Given the description of an element on the screen output the (x, y) to click on. 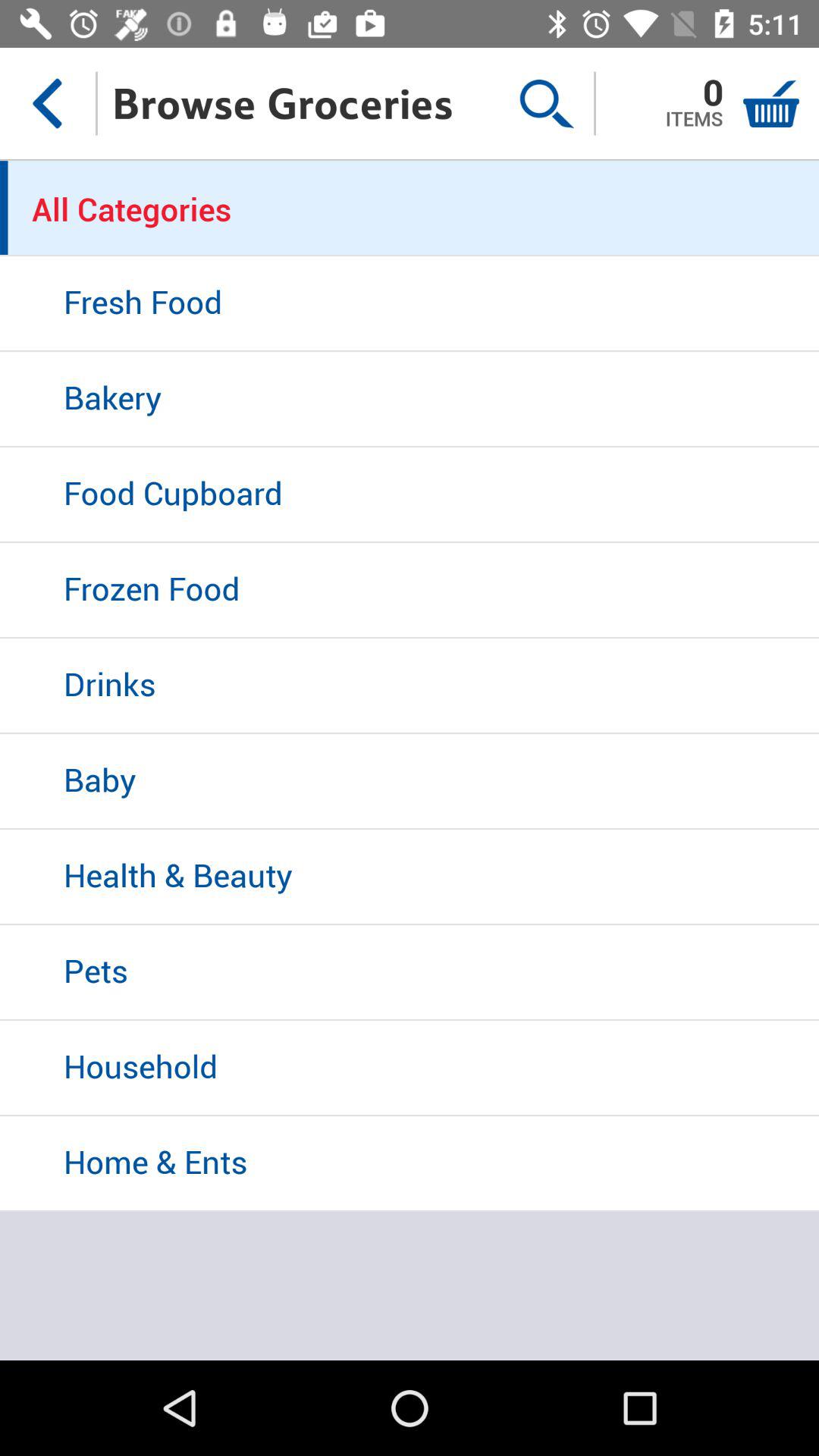
tap the item to the right of browse groceries item (545, 103)
